Given the description of an element on the screen output the (x, y) to click on. 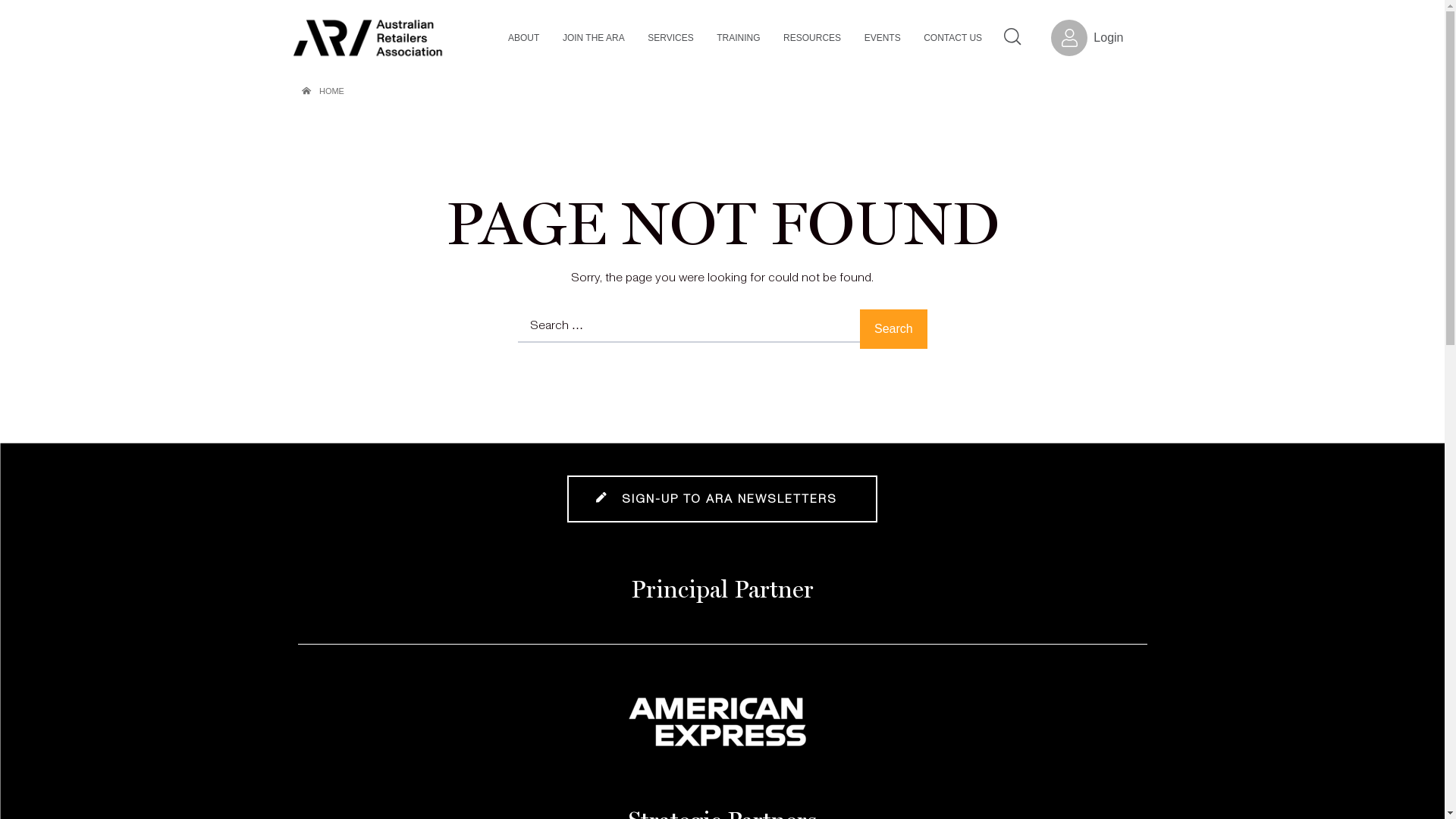
ABOUT Element type: text (525, 37)
RESOURCES Element type: text (813, 37)
SERVICES Element type: text (671, 37)
SIGN-UP TO ARA NEWSLETTERS Element type: text (722, 498)
Login Element type: text (1086, 37)
CONTACT US Element type: text (953, 37)
Search Element type: text (1013, 36)
Search Element type: text (892, 328)
EVENTS Element type: text (883, 37)
TRAINING Element type: text (739, 37)
JOIN THE ARA Element type: text (594, 37)
